Given the description of an element on the screen output the (x, y) to click on. 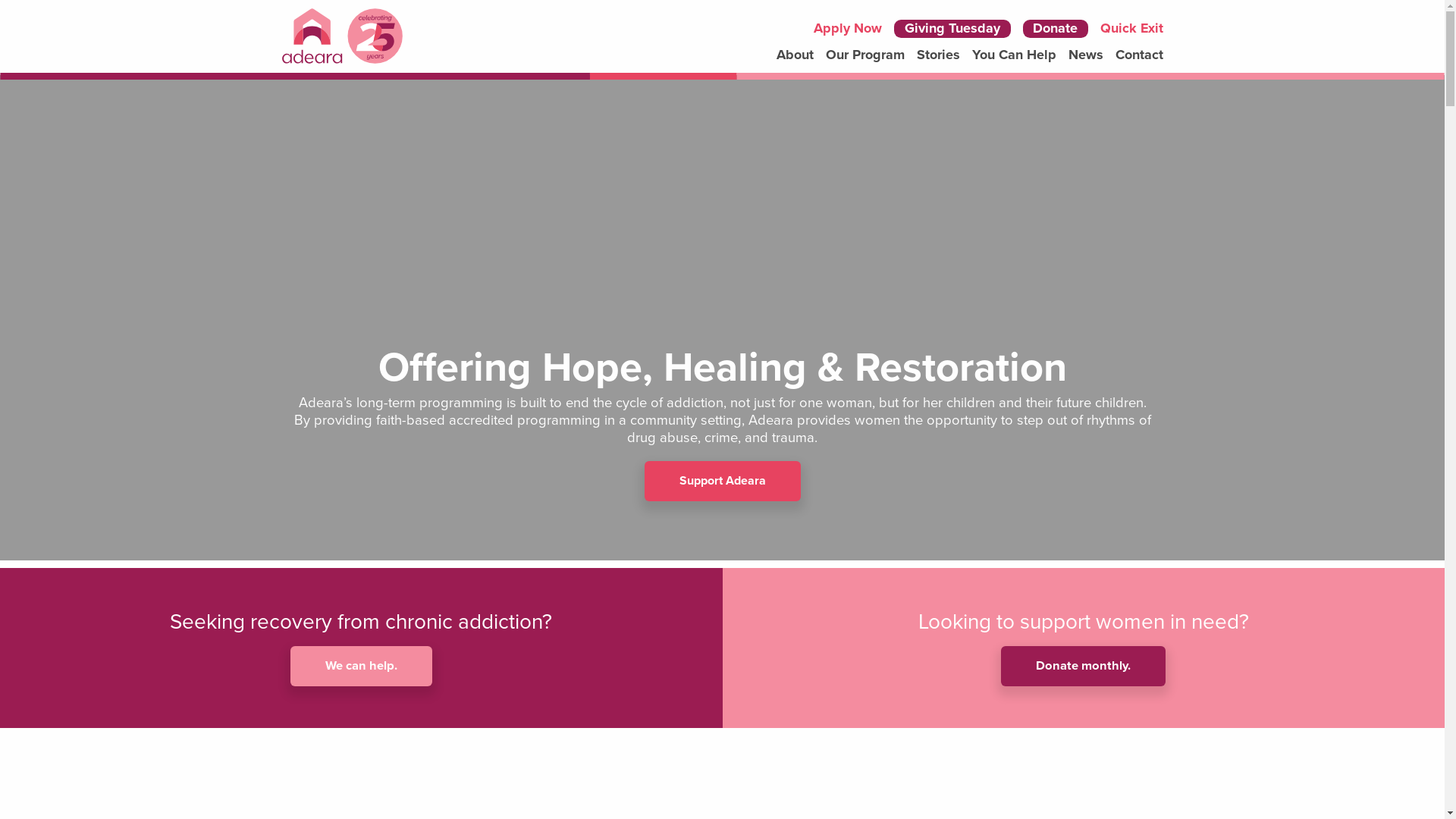
Seeking recovery from chronic addiction?
We can help. Element type: text (361, 647)
Support Adeara Element type: text (722, 481)
Giving Tuesday Element type: text (952, 28)
Donate Element type: text (1055, 28)
Quick Exit Element type: text (1131, 28)
Looking to support women in need?
Donate monthly. Element type: text (1082, 647)
News Element type: text (1085, 55)
Stories Element type: text (938, 55)
Contact Element type: text (1139, 55)
About Element type: text (794, 55)
Our Program Element type: text (864, 55)
You Can Help Element type: text (1014, 55)
Apply Now Element type: text (847, 28)
